Given the description of an element on the screen output the (x, y) to click on. 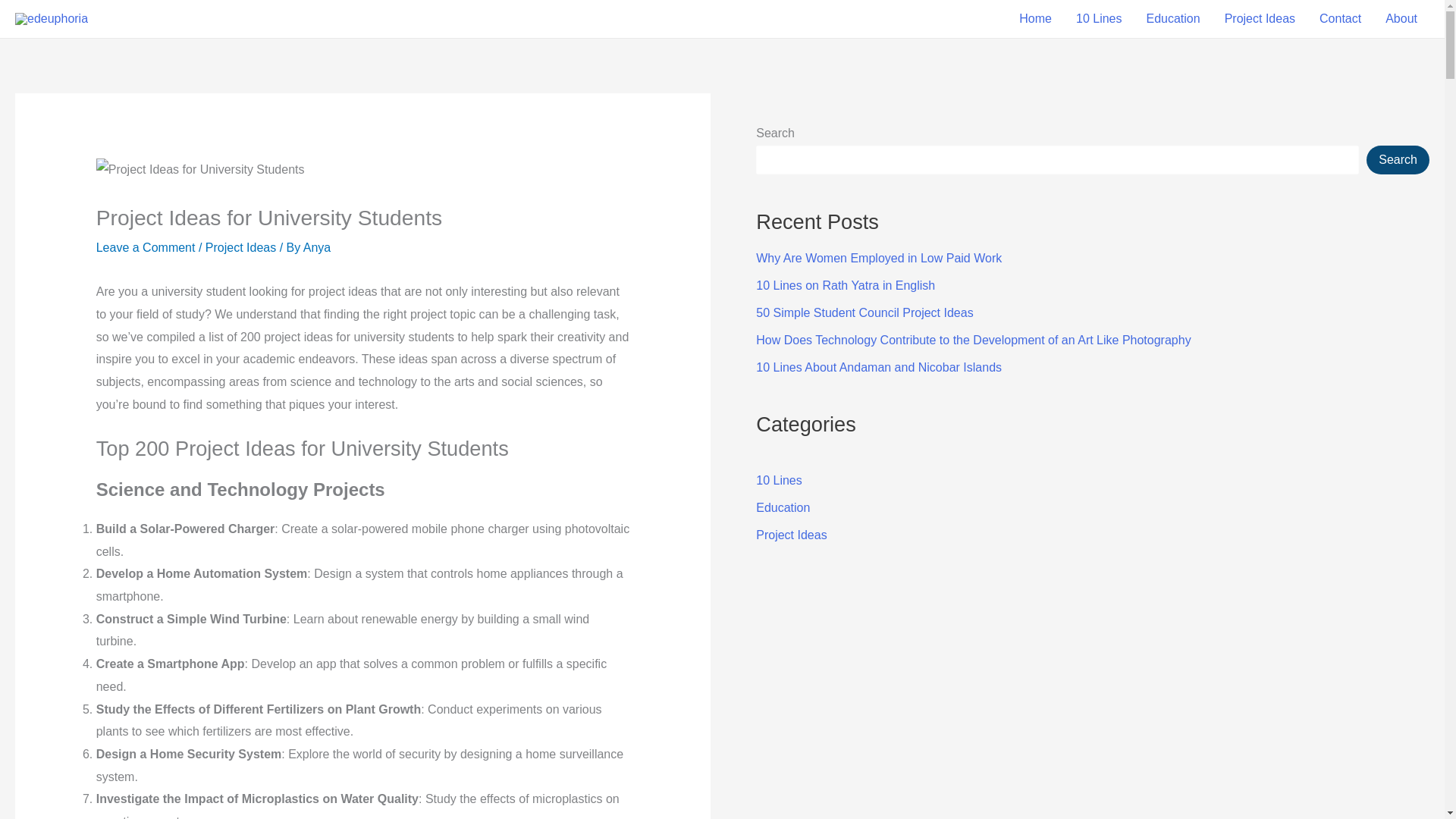
Home (1035, 18)
10 Lines (1099, 18)
Project Ideas (1259, 18)
Project Ideas (791, 534)
Search (1398, 159)
50 Simple Student Council Project Ideas (863, 312)
Education (1172, 18)
Anya (316, 246)
Why Are Women Employed in Low Paid Work (878, 257)
Contact (1340, 18)
